Given the description of an element on the screen output the (x, y) to click on. 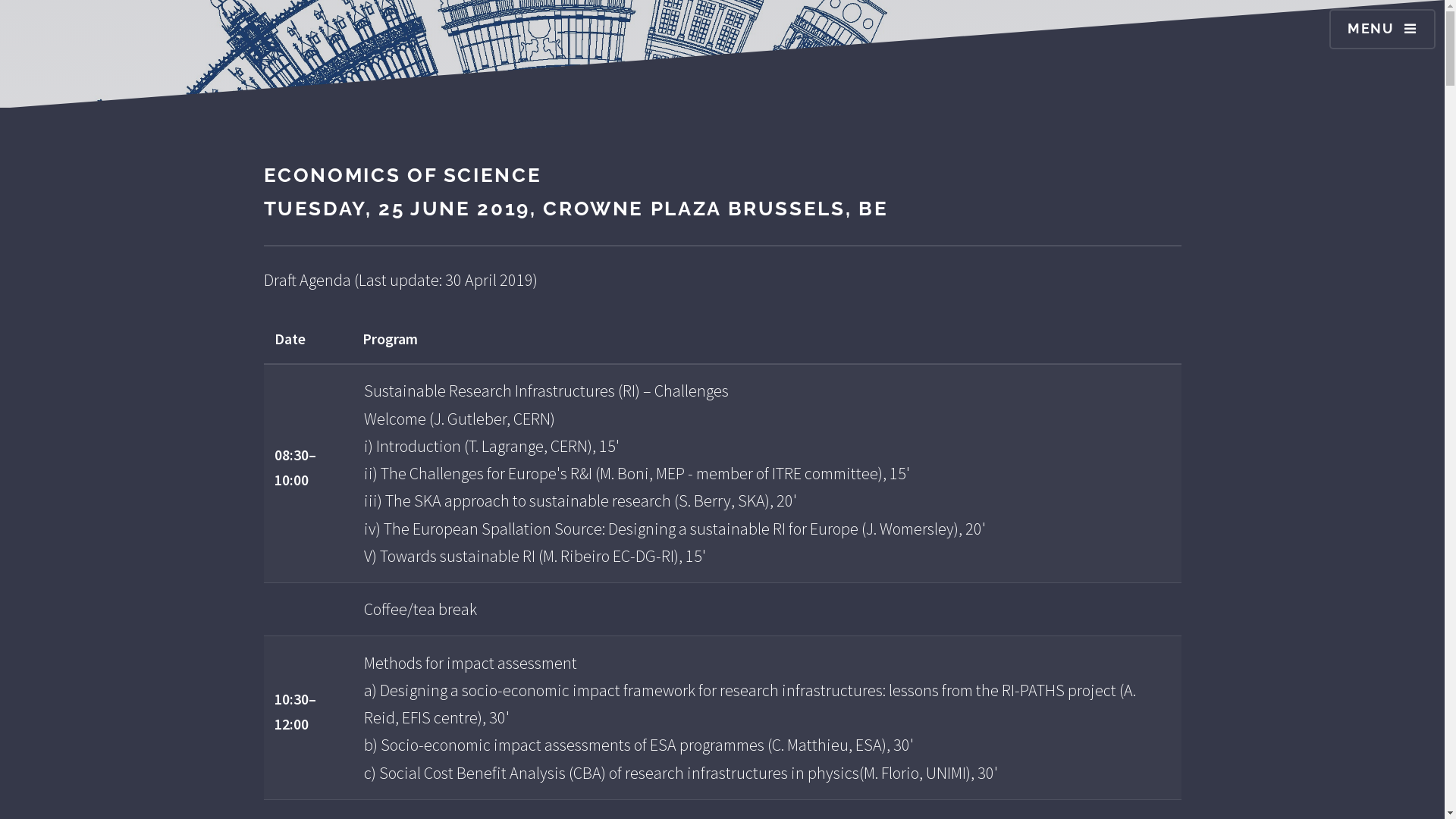
MENU Element type: text (1382, 29)
